Given the description of an element on the screen output the (x, y) to click on. 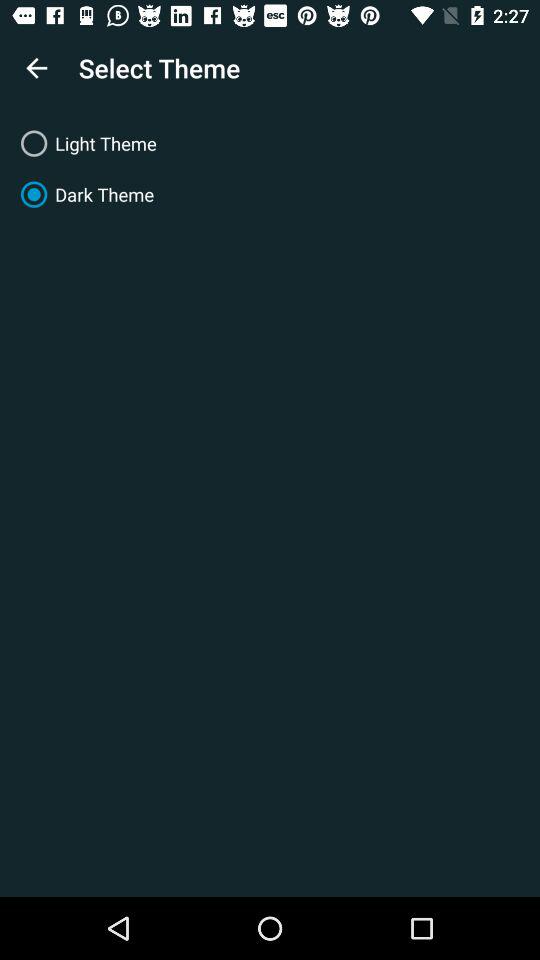
turn off the icon next to select theme item (36, 68)
